Given the description of an element on the screen output the (x, y) to click on. 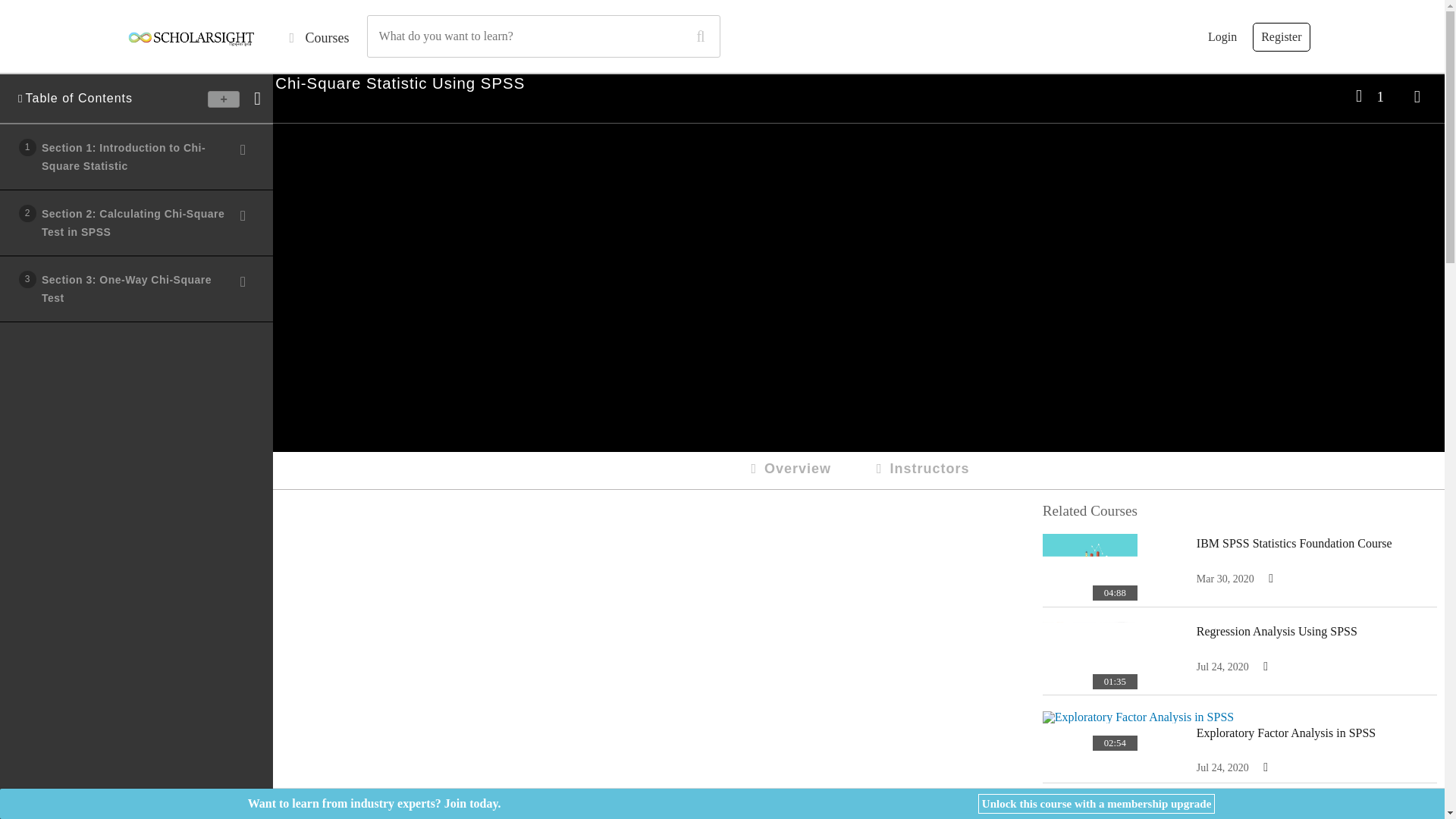
Instructors (921, 470)
Login (1221, 36)
Courses (318, 37)
IBM SPSS Statistics Foundation Course (1293, 543)
04:88 (1089, 564)
Courses (140, 288)
Login (318, 37)
Overview (1221, 36)
Register (140, 156)
01:35 (789, 470)
Register (1280, 36)
